Given the description of an element on the screen output the (x, y) to click on. 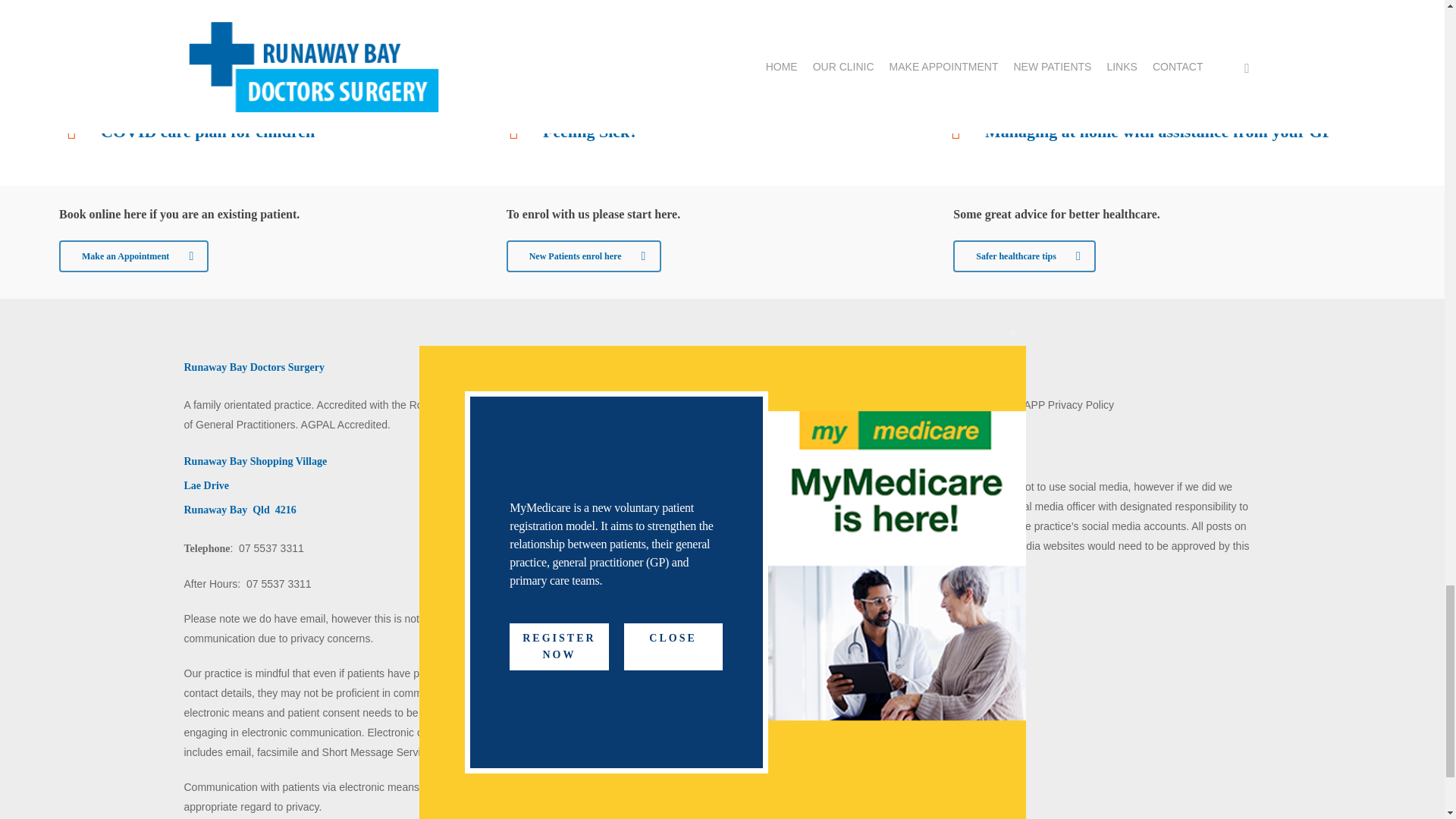
View page (574, 459)
New Patients enrol here (583, 255)
COVID care plan for adults (199, 87)
Feeling Sick? (590, 131)
Safer healthcare tips (1024, 255)
Stay informed (594, 43)
Safer Festive Season (615, 87)
Managing at home with assistance from your GP (1158, 131)
COVID-Ready Kit (167, 43)
Telephone:  07 5537 3311 (242, 548)
Make an Appointment (133, 255)
Managing COVID at home (1081, 43)
Download the RACGP APP Privacy Policy (1014, 404)
COVID care plan for children (207, 131)
